Given the description of an element on the screen output the (x, y) to click on. 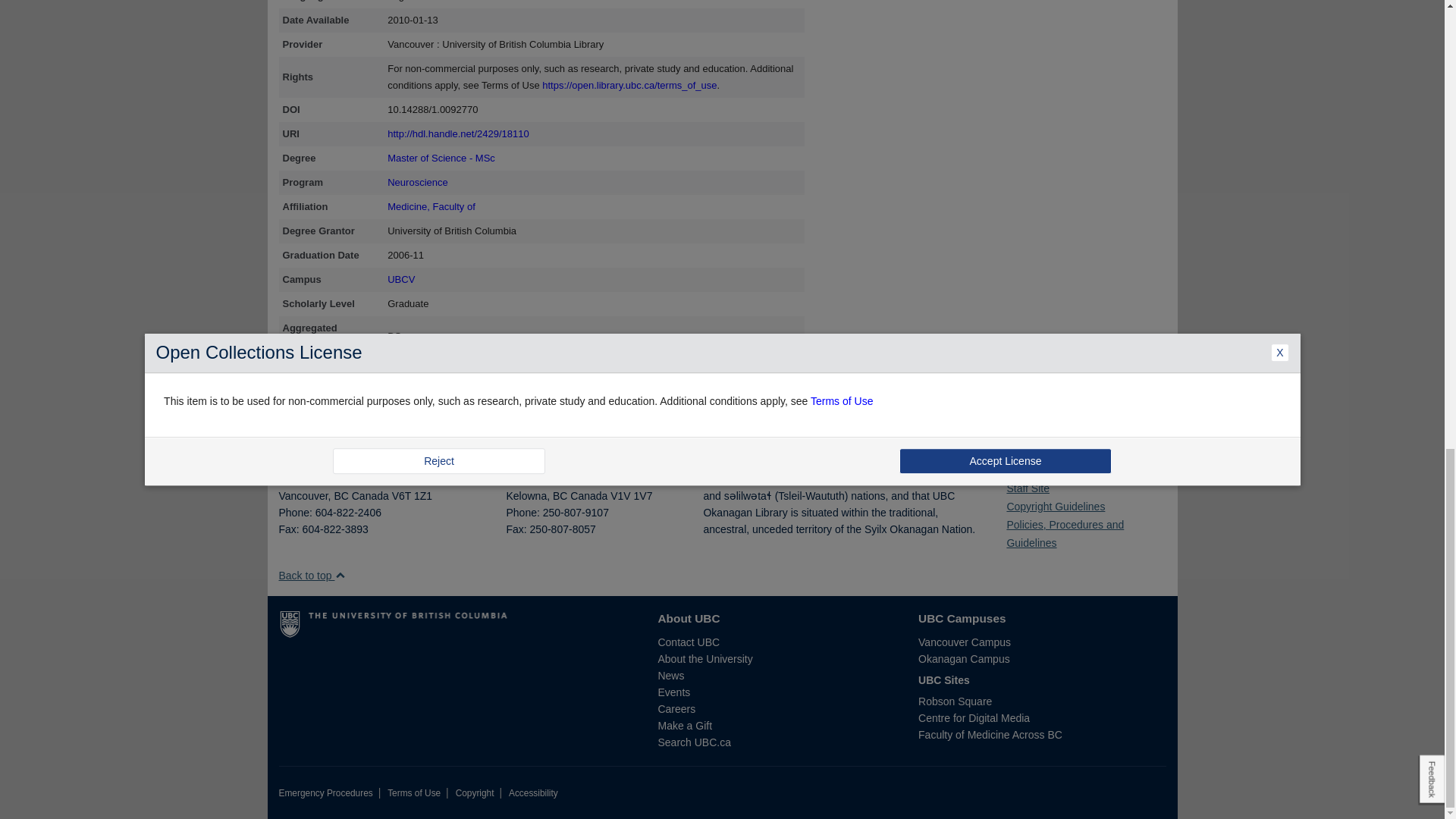
Youtube icon (1041, 466)
Twitter icon (1021, 466)
British Columbia (560, 495)
Facebook icon (1010, 466)
Instagram icon (1031, 466)
British Columbia (340, 495)
